Given the description of an element on the screen output the (x, y) to click on. 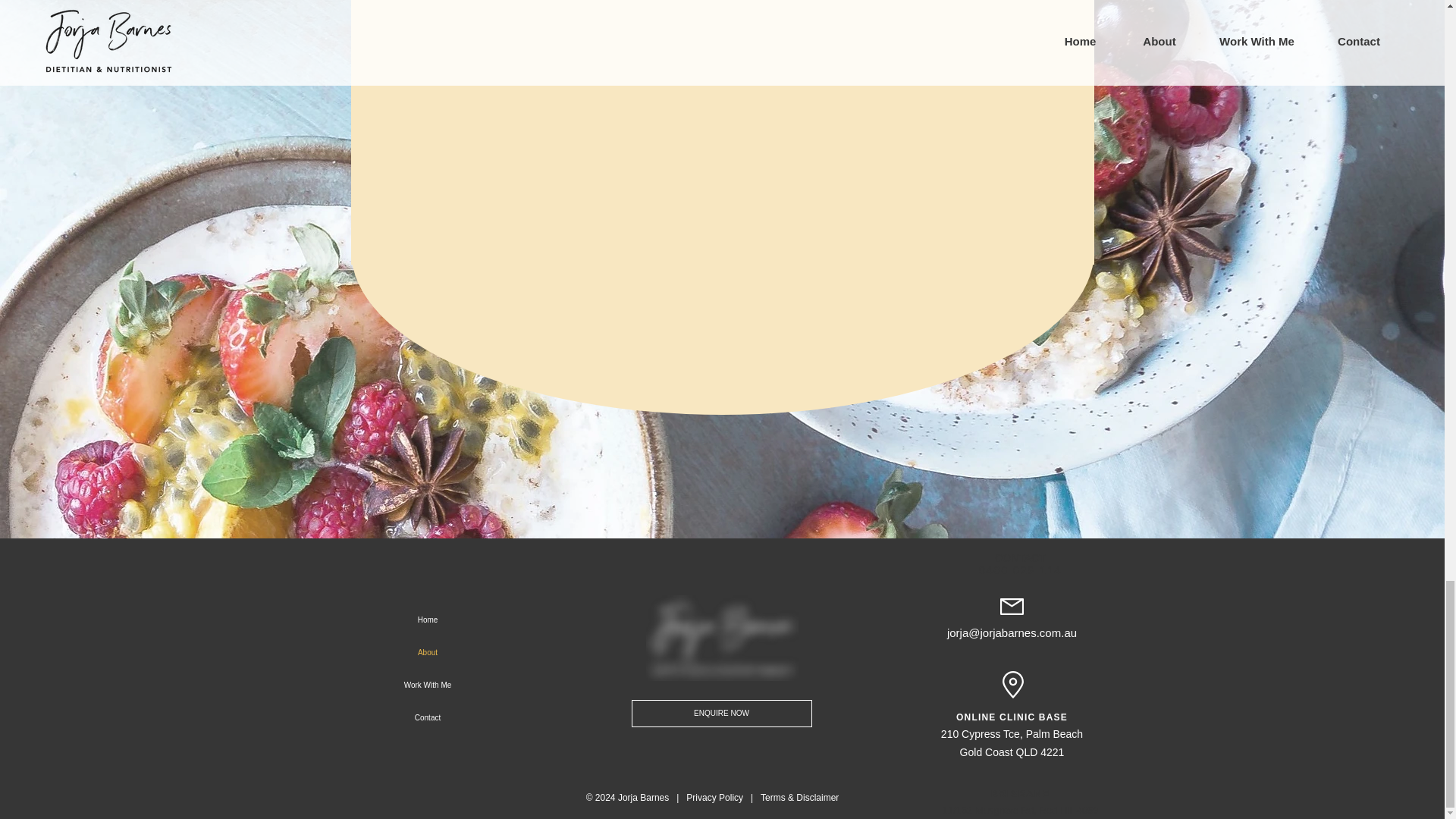
Privacy Policy (713, 797)
Contact (426, 717)
Home (426, 618)
0400 029 114 (1020, 569)
Work With Me (426, 684)
ENQUIRE NOW (720, 713)
